Given the description of an element on the screen output the (x, y) to click on. 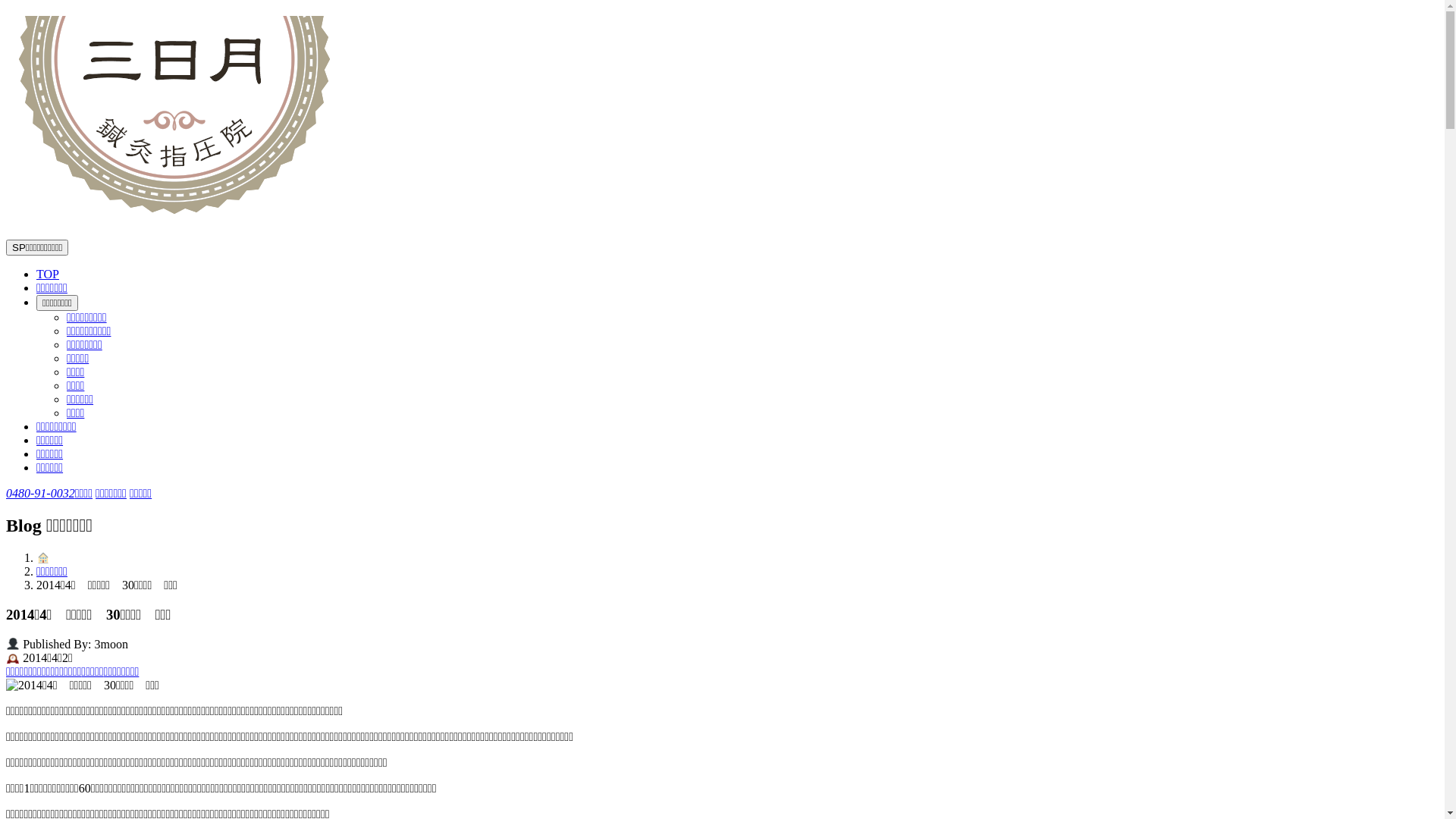
TOP Element type: text (47, 273)
